Given the description of an element on the screen output the (x, y) to click on. 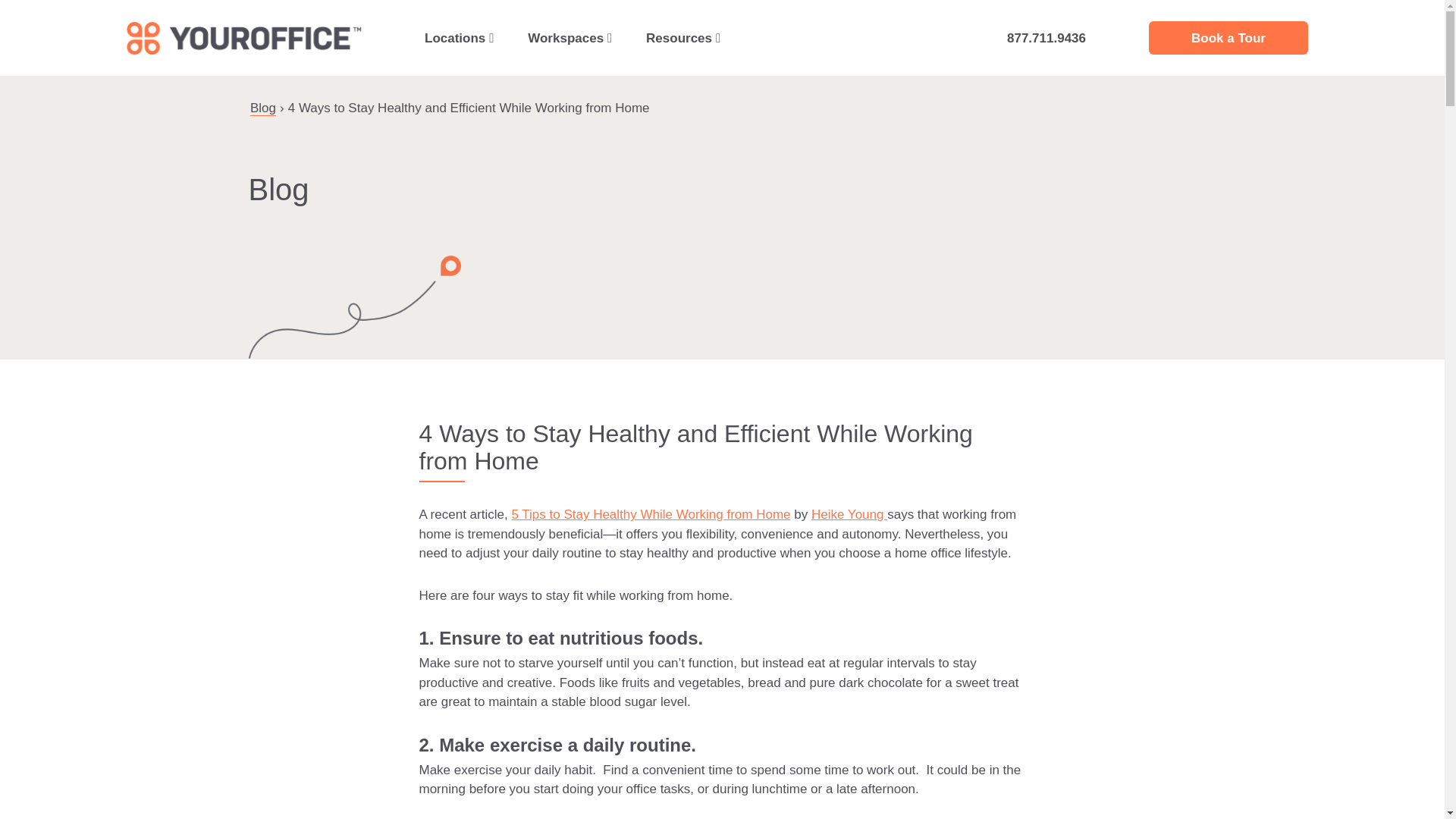
Blog (263, 108)
Workspaces (569, 37)
Locations (459, 37)
Resources (682, 37)
877.711.9436 (1045, 37)
Book a Tour (1227, 37)
5 Tips to Stay Healthy While Working from Home (650, 513)
Heike Young  (848, 513)
